Given the description of an element on the screen output the (x, y) to click on. 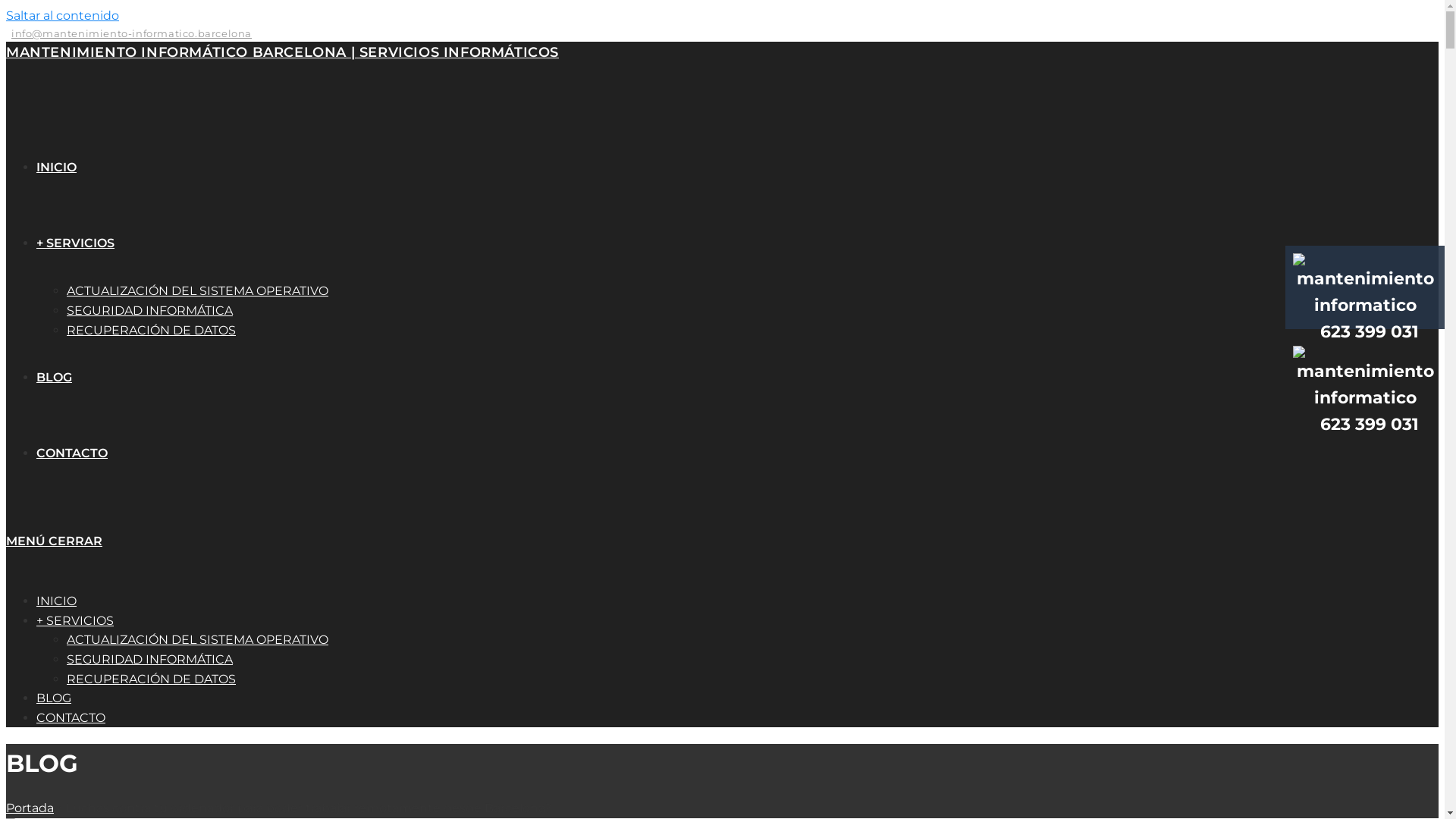
INICIO Element type: text (56, 167)
  623 399 031 Element type: text (1364, 318)
Portada Element type: text (29, 807)
+ SERVICIOS Element type: text (74, 620)
INICIO Element type: text (56, 600)
CONTACTO Element type: text (70, 717)
BLOG Element type: text (53, 697)
BLOG Element type: text (54, 377)
Saltar al contenido Element type: text (62, 15)
CONTACTO Element type: text (71, 452)
+ SERVICIOS Element type: text (75, 242)
info@mantenimiento-informatico.barcelona Element type: text (128, 33)
  623 399 031 Element type: text (1364, 410)
